Given the description of an element on the screen output the (x, y) to click on. 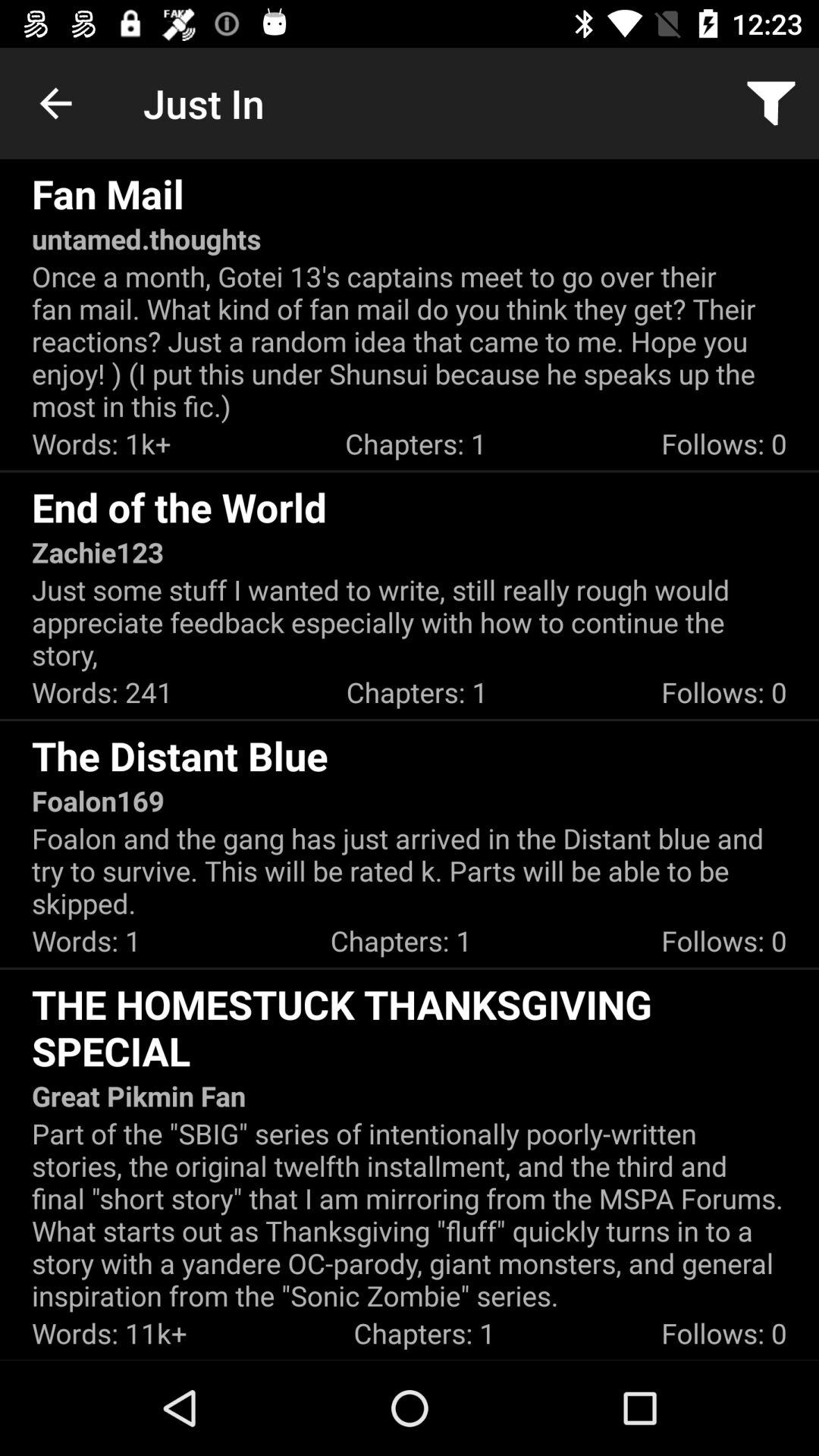
press the item above words: 241 item (409, 622)
